Given the description of an element on the screen output the (x, y) to click on. 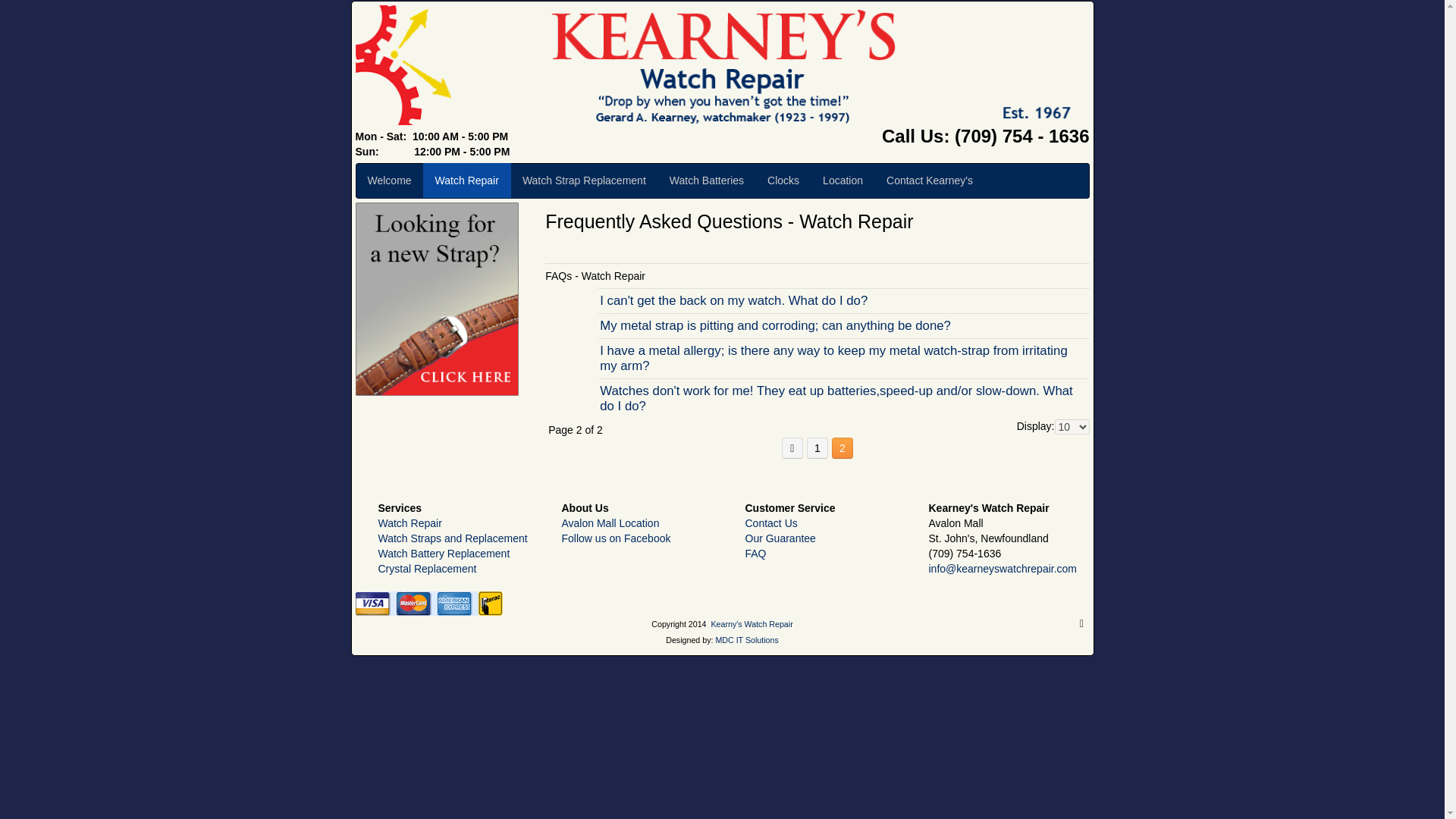
Contact Us (770, 522)
Contact Kearney's (930, 180)
Welcome (389, 180)
Crystal Replacement (426, 568)
Location (842, 180)
I can't get the back on my watch. What do I do? (843, 300)
MDC IT Solutions (745, 639)
Kearny's Watch Repair (751, 623)
Watch Straps and Replacement (452, 538)
